Given the description of an element on the screen output the (x, y) to click on. 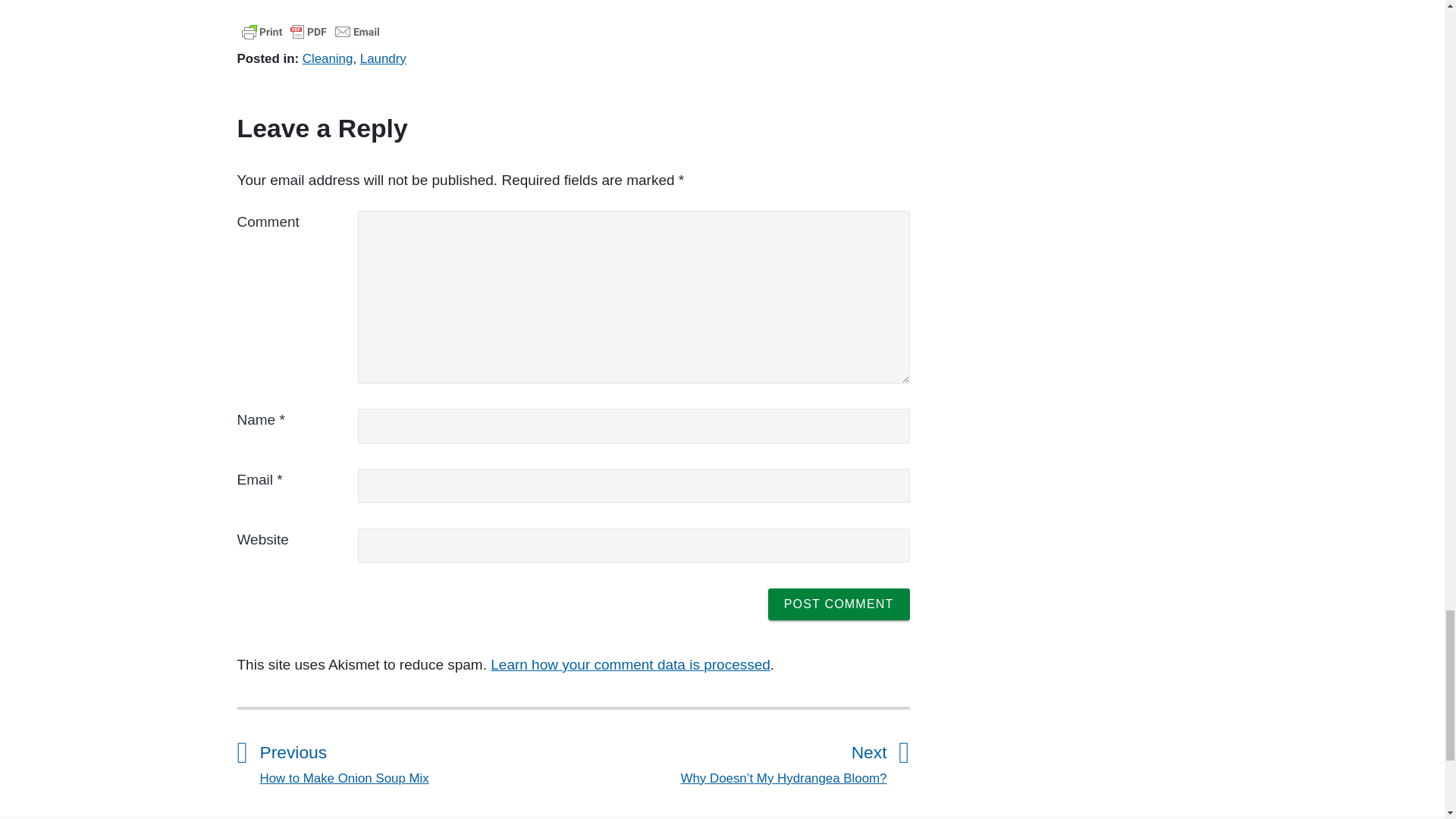
Post Comment (839, 603)
